Given the description of an element on the screen output the (x, y) to click on. 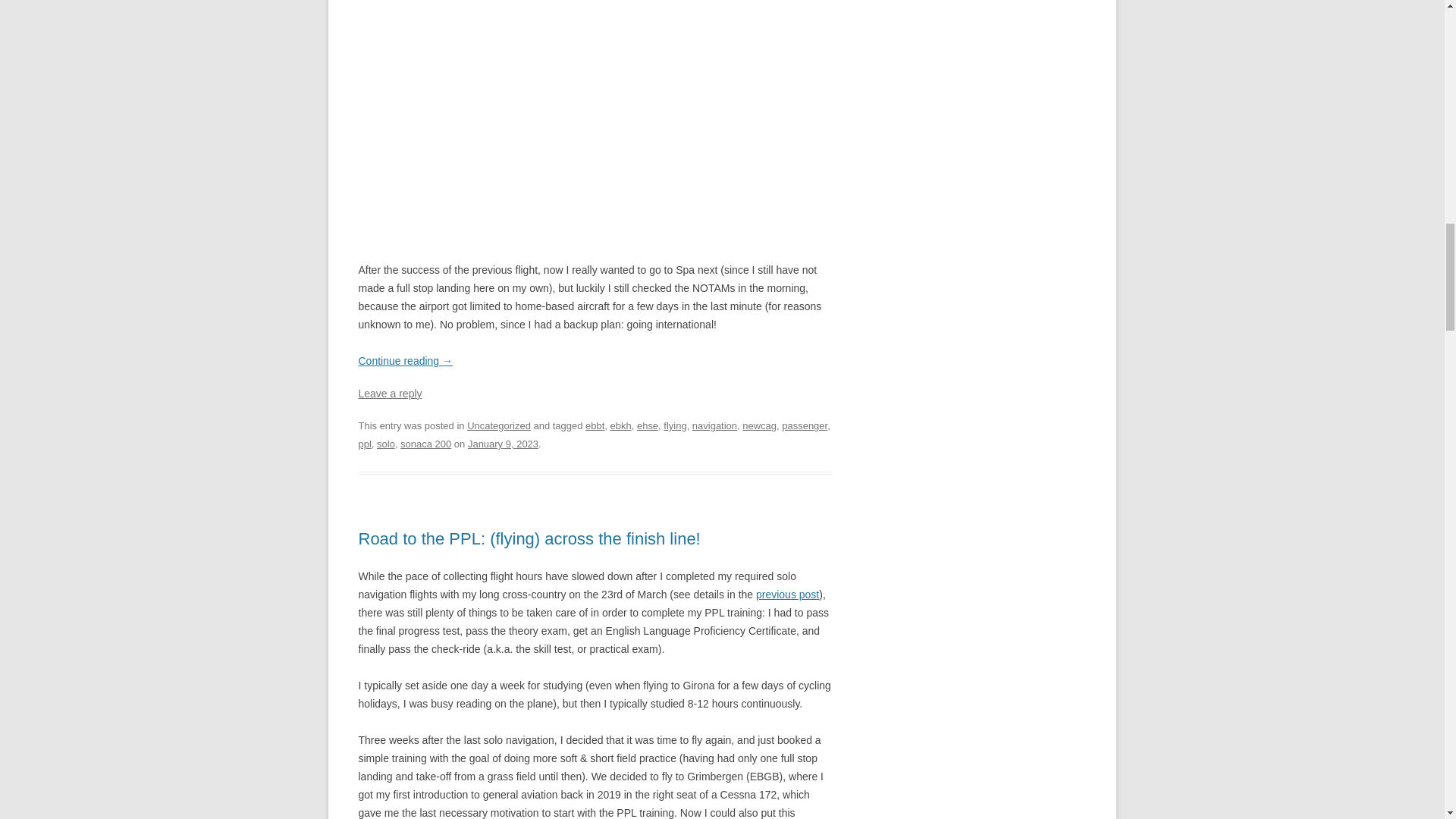
ppl (364, 443)
ehse (647, 425)
ebbt (594, 425)
passenger (804, 425)
Uncategorized (499, 425)
navigation (714, 425)
Leave a reply (390, 393)
flying (674, 425)
solo (385, 443)
sonaca 200 (425, 443)
ebkh (620, 425)
14:45 (502, 443)
newcag (759, 425)
